Given the description of an element on the screen output the (x, y) to click on. 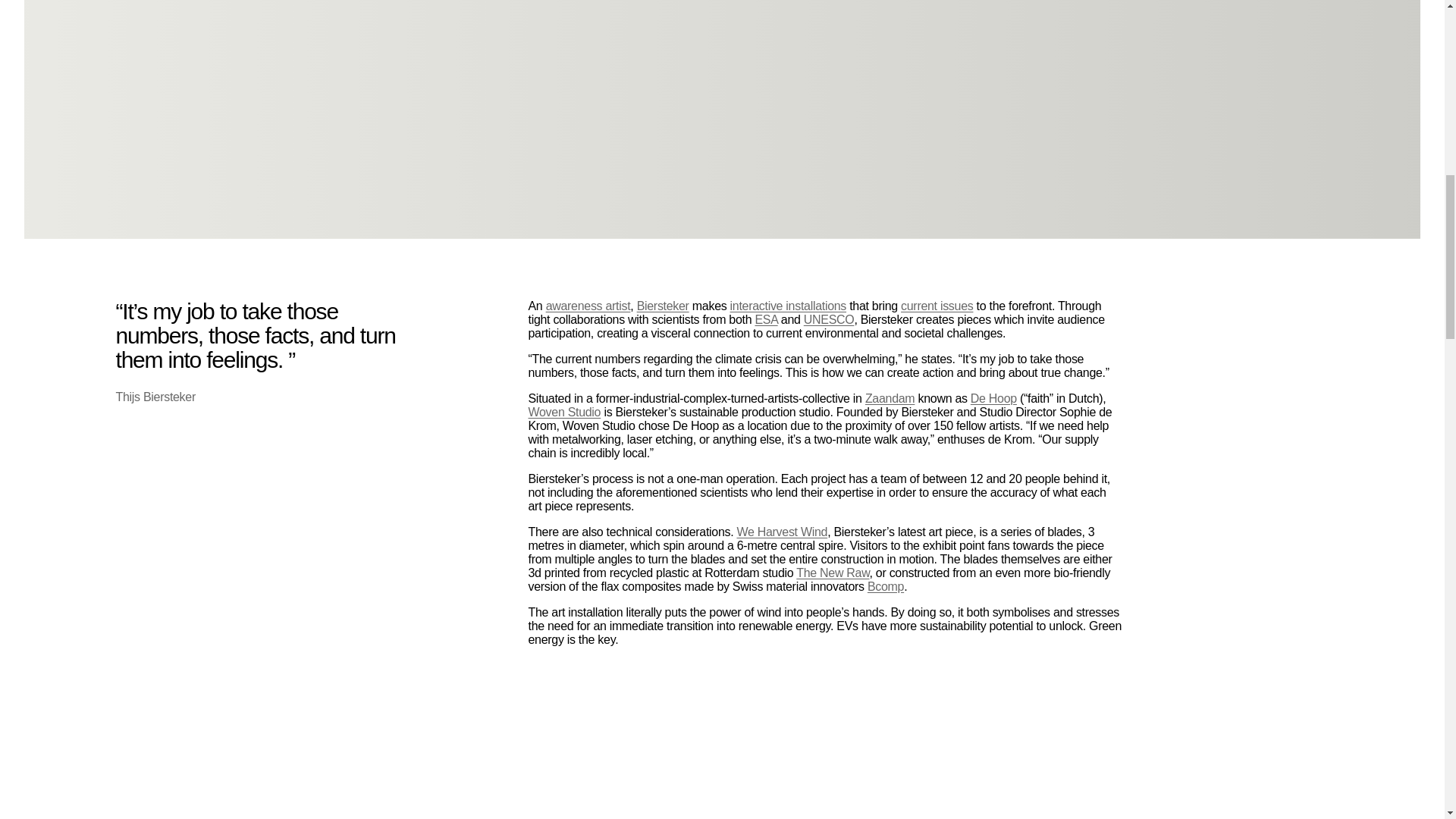
current issues (936, 305)
Zaandam (889, 397)
The New Raw (832, 571)
De Hoop (993, 397)
interactive installations (787, 305)
Biersteker (662, 305)
Woven Studio (563, 410)
We Harvest Wind (781, 530)
ESA (765, 318)
UNESCO (828, 318)
